Given the description of an element on the screen output the (x, y) to click on. 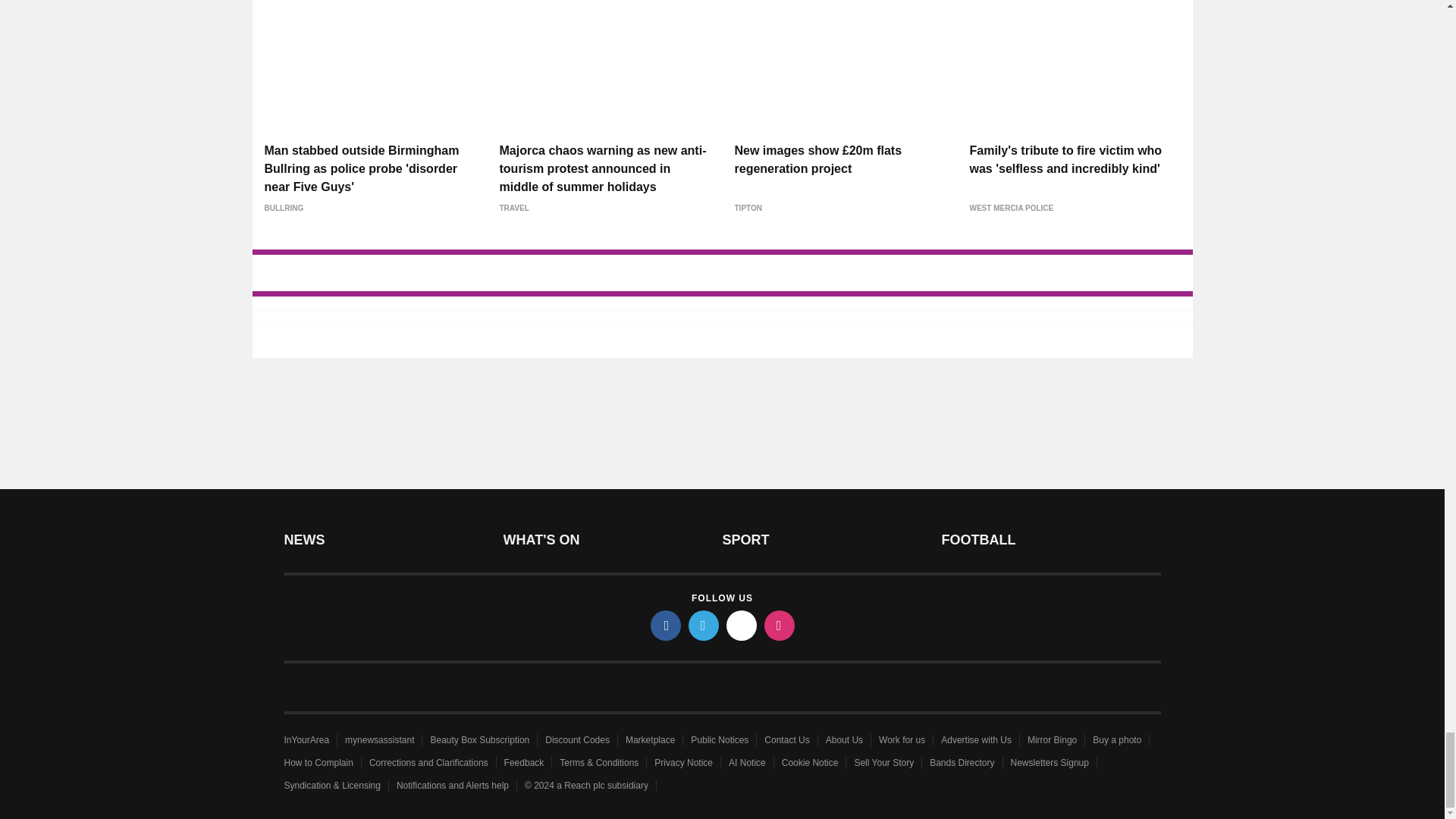
twitter (703, 625)
instagram (779, 625)
tiktok (741, 625)
facebook (665, 625)
